Given the description of an element on the screen output the (x, y) to click on. 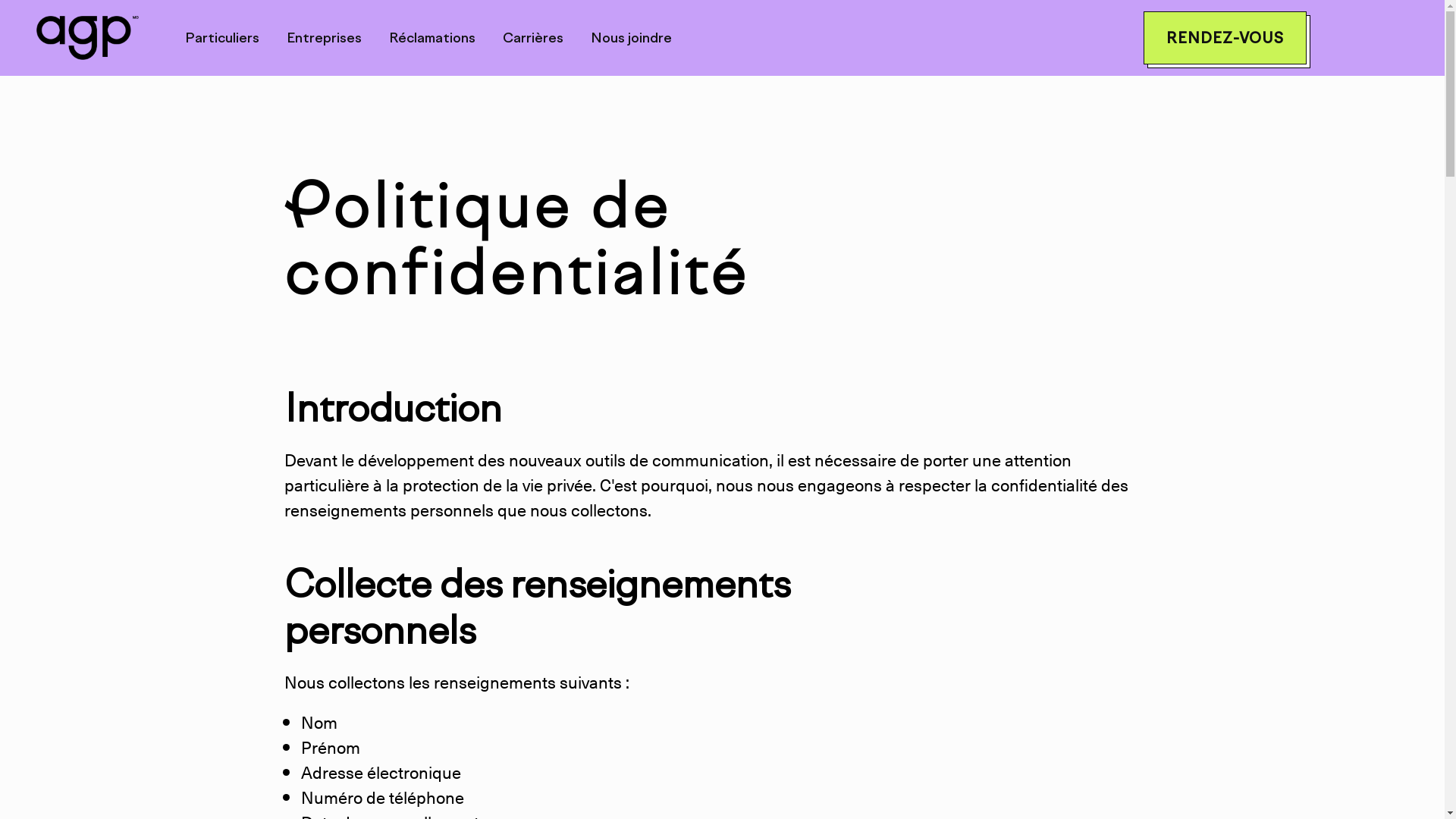
RENDEZ-VOUS Element type: text (1224, 37)
Espace client Intact Element type: text (128, 563)
1 514 356-4111 Element type: text (1329, 658)
Entreprises Element type: text (323, 37)
Particuliers Element type: text (222, 37)
1 866 464-2424 Element type: text (1321, 493)
1 866 629-3686 Element type: text (276, 561)
1 418 663-2711 Element type: text (1327, 576)
Nous joindre Element type: text (630, 37)
